Given the description of an element on the screen output the (x, y) to click on. 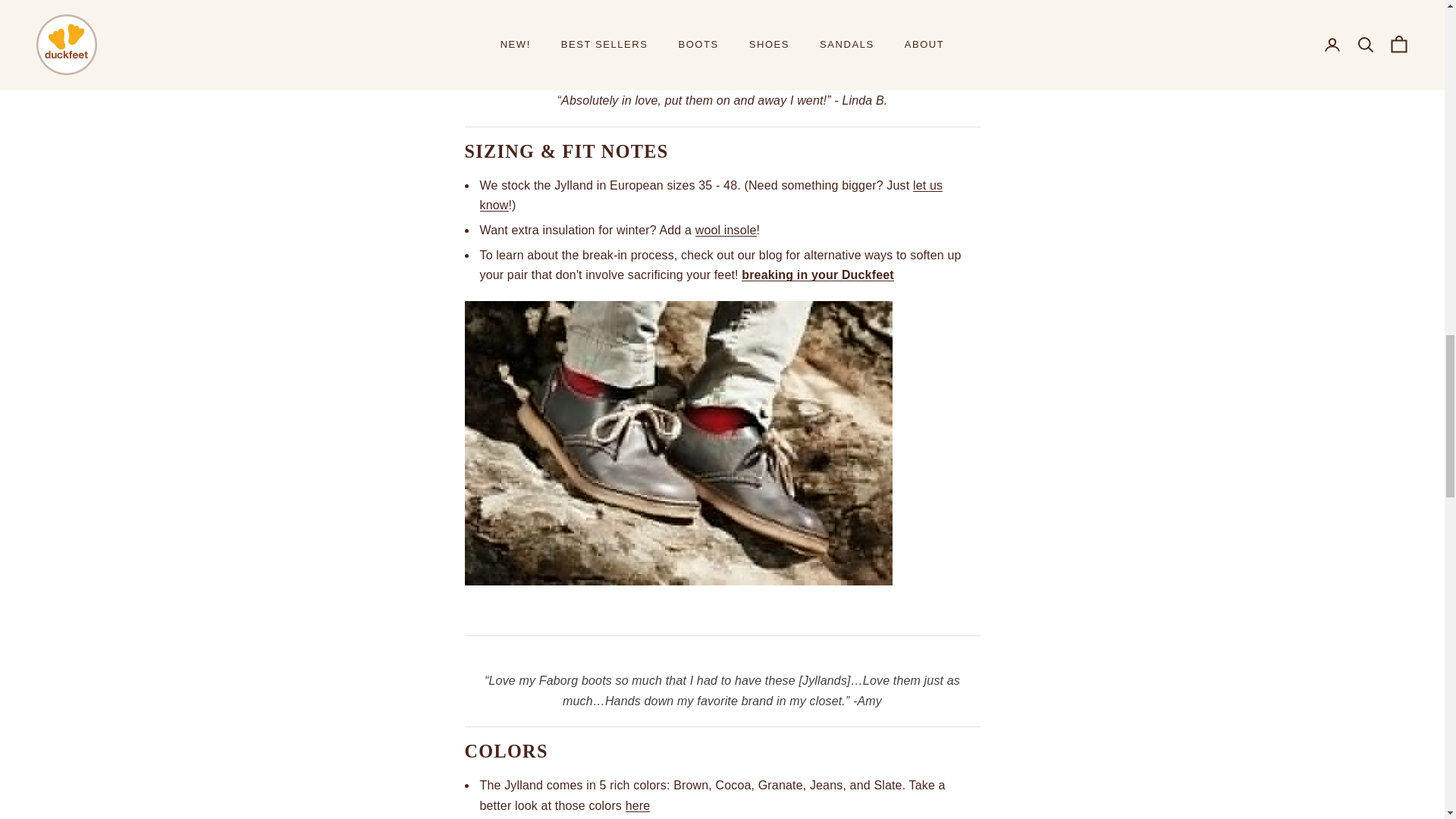
Wool Insole (726, 229)
Jylland Slate (677, 440)
Jylland (638, 805)
